Given the description of an element on the screen output the (x, y) to click on. 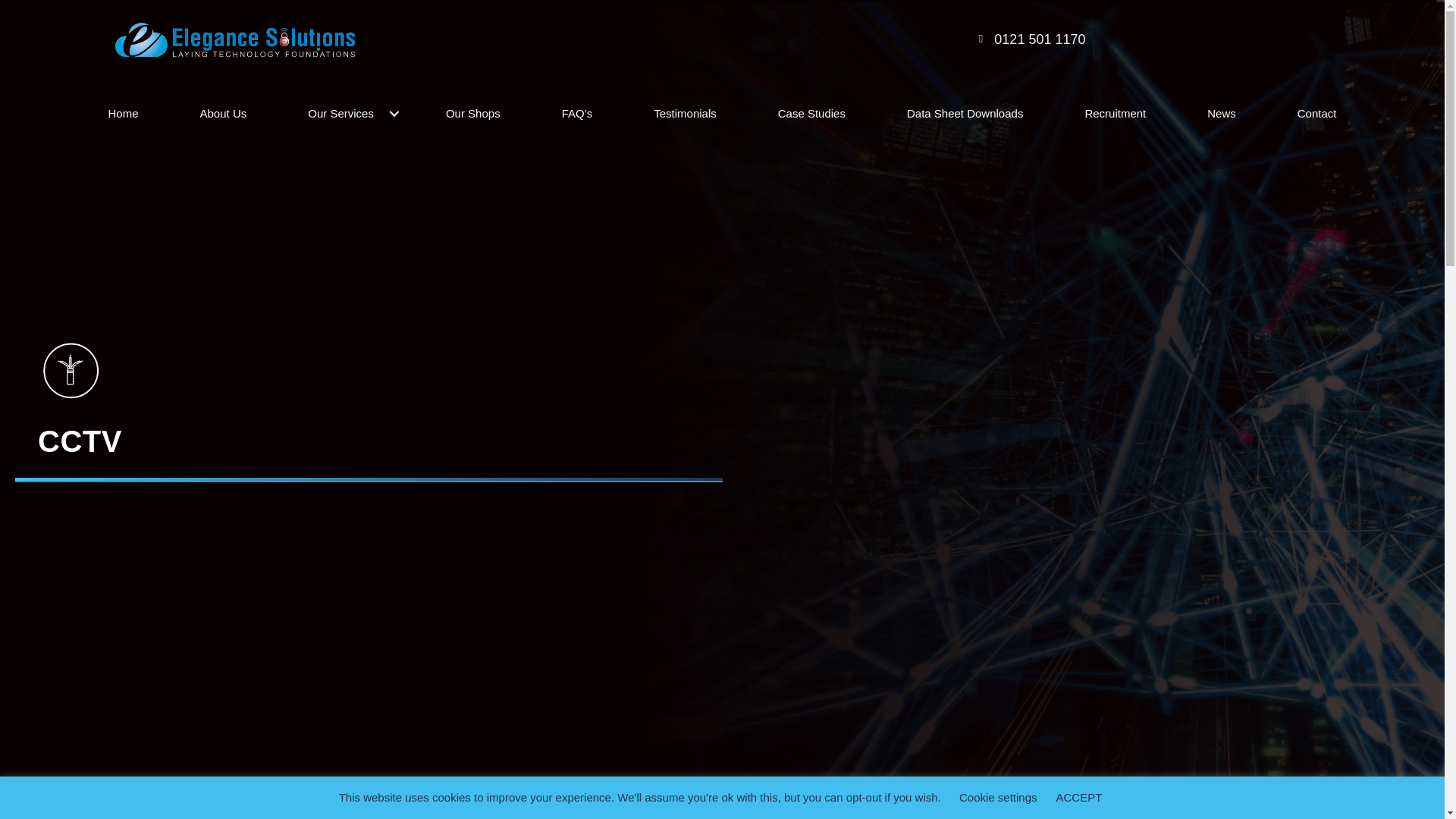
Testimonials (684, 113)
Elegance-Solutions-Logo (234, 41)
Case Studies (812, 113)
About Us (224, 113)
Our Services (346, 113)
Our Shops (472, 113)
0121 501 1170 (1039, 38)
Network-Infrastructure-Icon-2 (71, 370)
Home (122, 113)
